Given the description of an element on the screen output the (x, y) to click on. 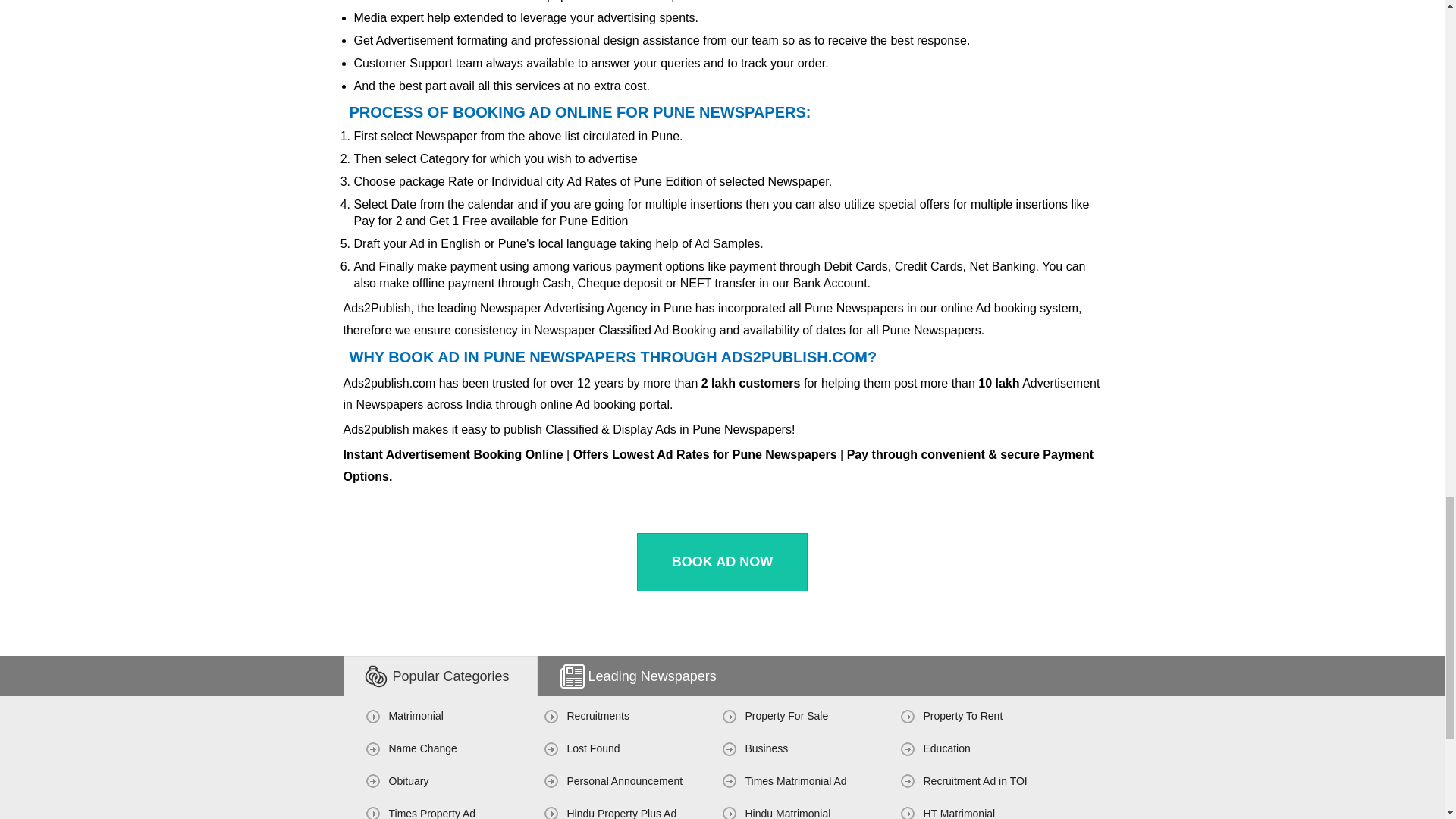
Give-Property-Ad-in-Newspaper (786, 715)
Lost-Found-Ad-Booking-Online (593, 748)
Personal-Announcement-Ad-in-Newspaper (624, 780)
Business-Ad-Online-Booking (765, 748)
The-Hindu-Matrimonial-Ad-Booking (786, 813)
Give-Name-Change-Ad-in-Newspaper (422, 748)
Book-Obituary-Ad-in-Newspaper (408, 780)
Give-Matrimonial-Ad-in-Newspaper (415, 715)
Education-Advertisement-in-Newspaper (947, 748)
Hindustan-Times-Matrimonial-Ad-Booking (959, 813)
